Given the description of an element on the screen output the (x, y) to click on. 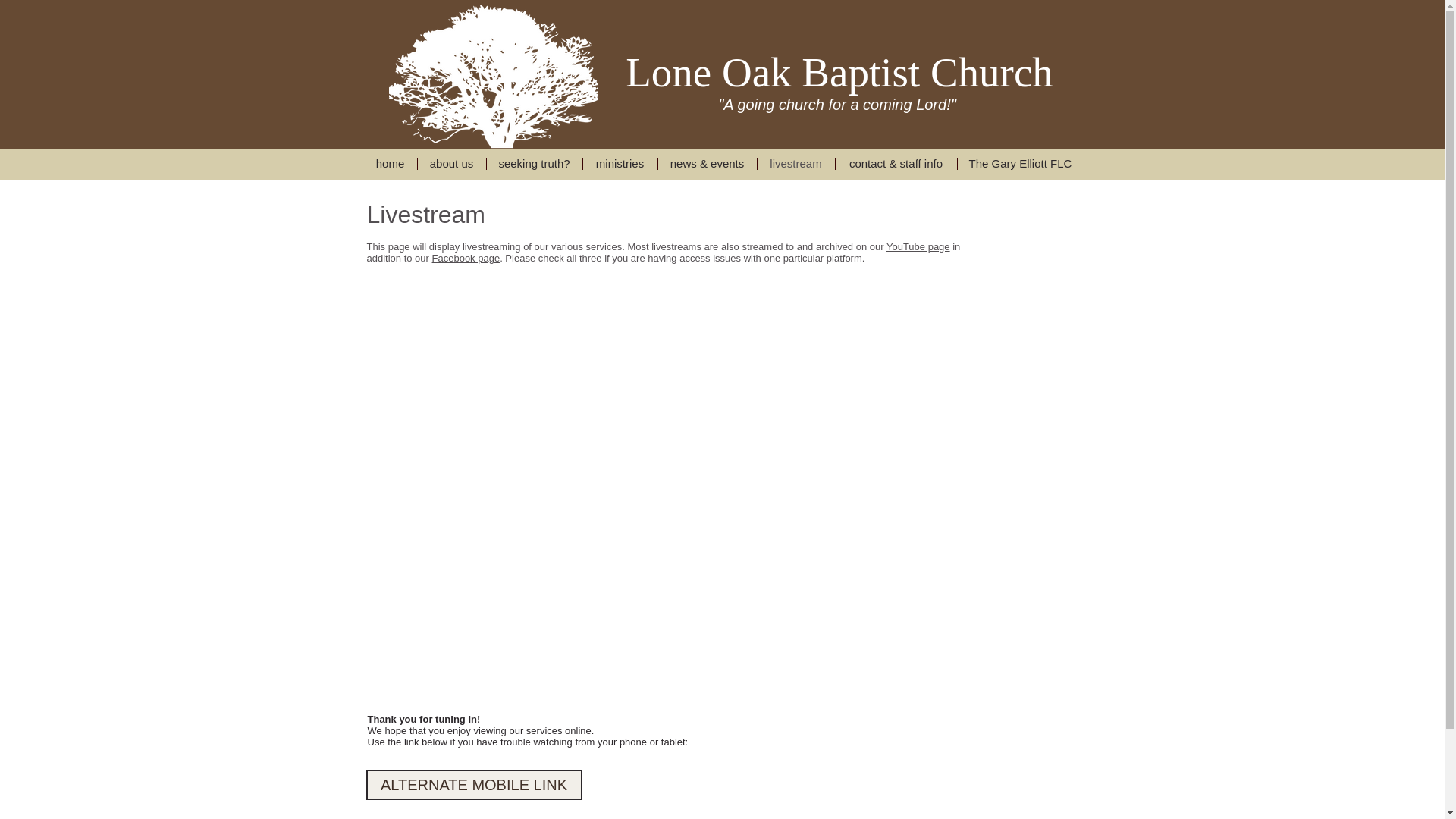
about us (450, 163)
seeking truth? (534, 163)
livestream (795, 163)
home (390, 163)
The Gary Elliott FLC (1018, 163)
Facebook page (466, 257)
ministries (619, 163)
ALTERNATE MOBILE LINK (472, 784)
YouTube page (918, 246)
